Given the description of an element on the screen output the (x, y) to click on. 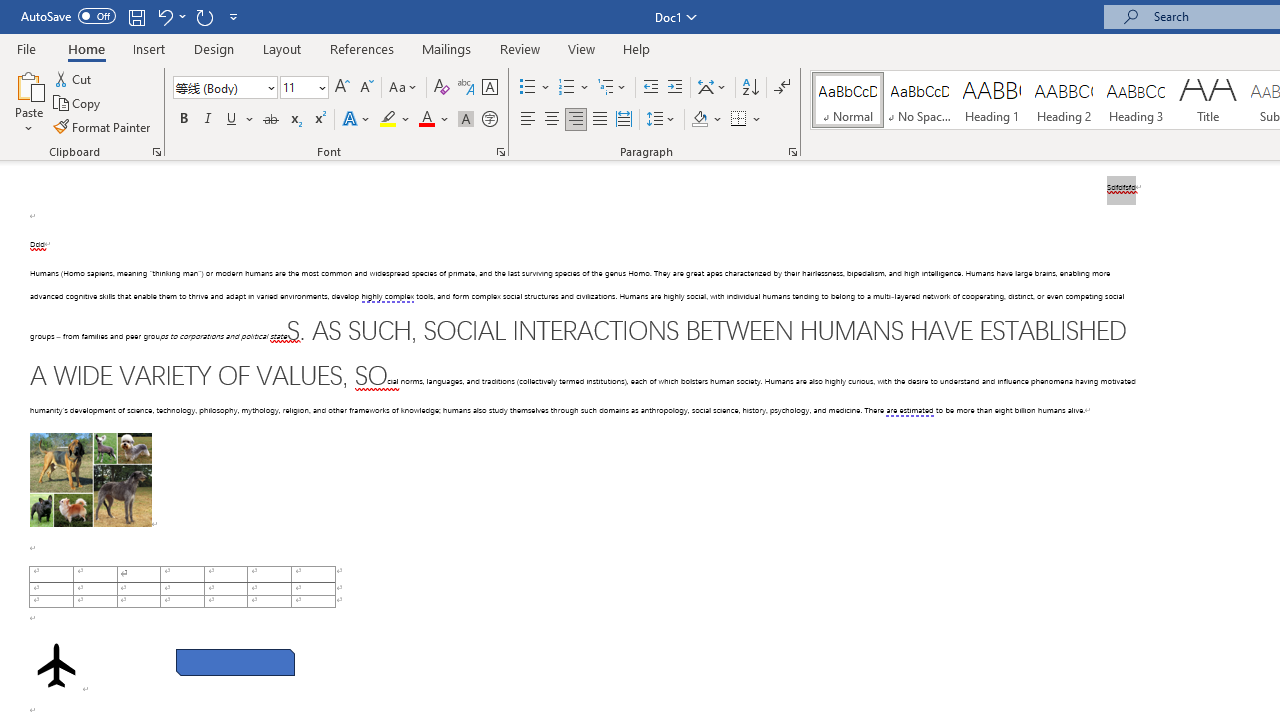
Morphological variation in six dogs (90, 479)
Undo Paragraph Alignment (170, 15)
